Given the description of an element on the screen output the (x, y) to click on. 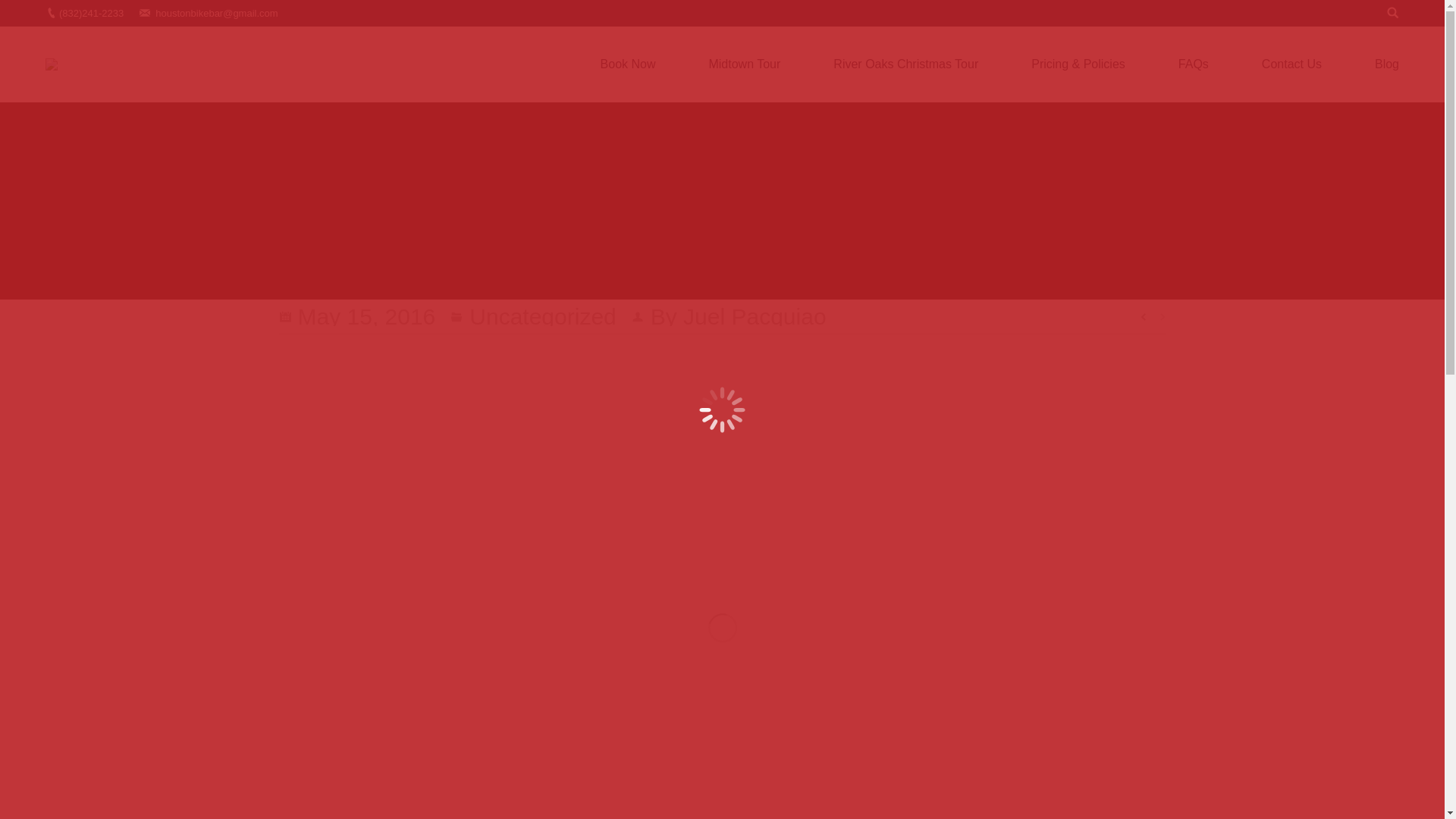
Uncategorized (541, 316)
By Juel Pacquiao (729, 316)
Book Now (650, 64)
View all posts by Juel Pacquiao (729, 316)
Contact Us (1314, 64)
Go! (19, 15)
6:03 am (357, 316)
River Oaks Christmas Tour (927, 64)
Midtown Tour (766, 64)
FAQs (1215, 64)
